Given the description of an element on the screen output the (x, y) to click on. 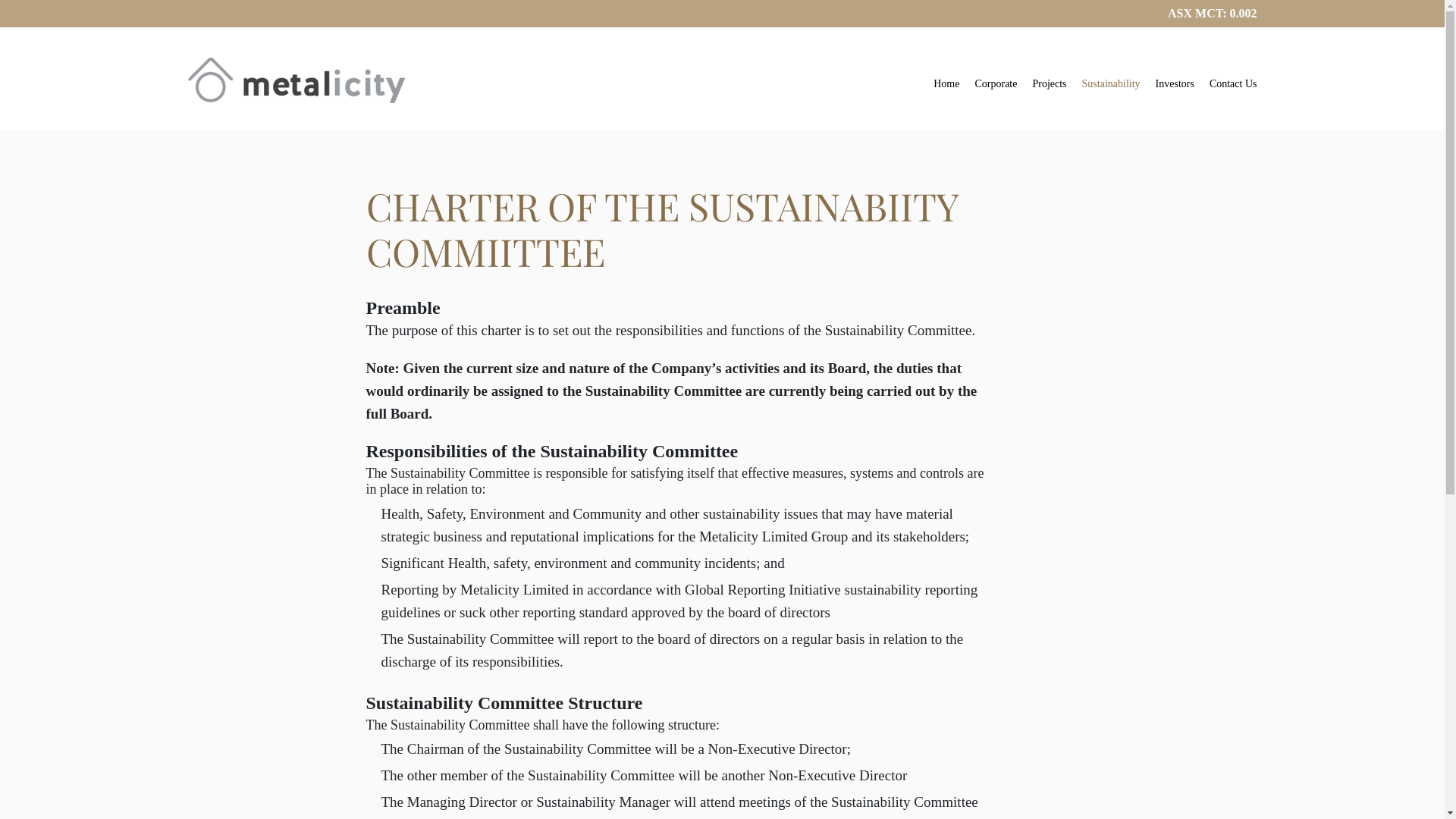
ASX MCT: 0.002 Element type: text (1211, 12)
Contact Us Element type: text (1233, 87)
Home Element type: text (946, 87)
Projects Element type: text (1049, 87)
Corporate Element type: text (995, 87)
Metalicity Element type: hover (296, 80)
Sustainability Element type: text (1111, 87)
Investors Element type: text (1174, 87)
